Given the description of an element on the screen output the (x, y) to click on. 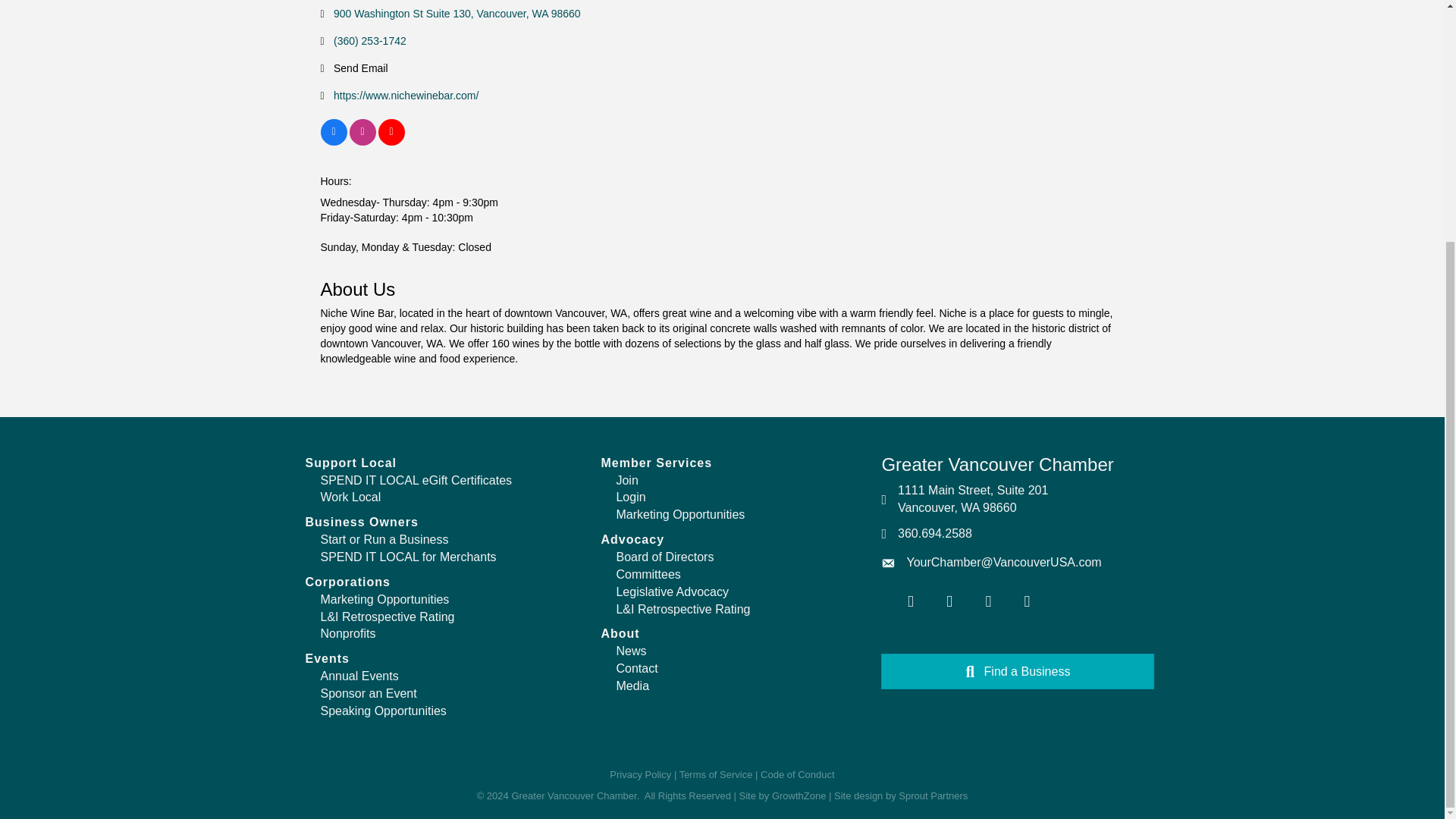
View on Facebook (333, 141)
View on Instagram (362, 141)
View on YouTube (390, 141)
